Given the description of an element on the screen output the (x, y) to click on. 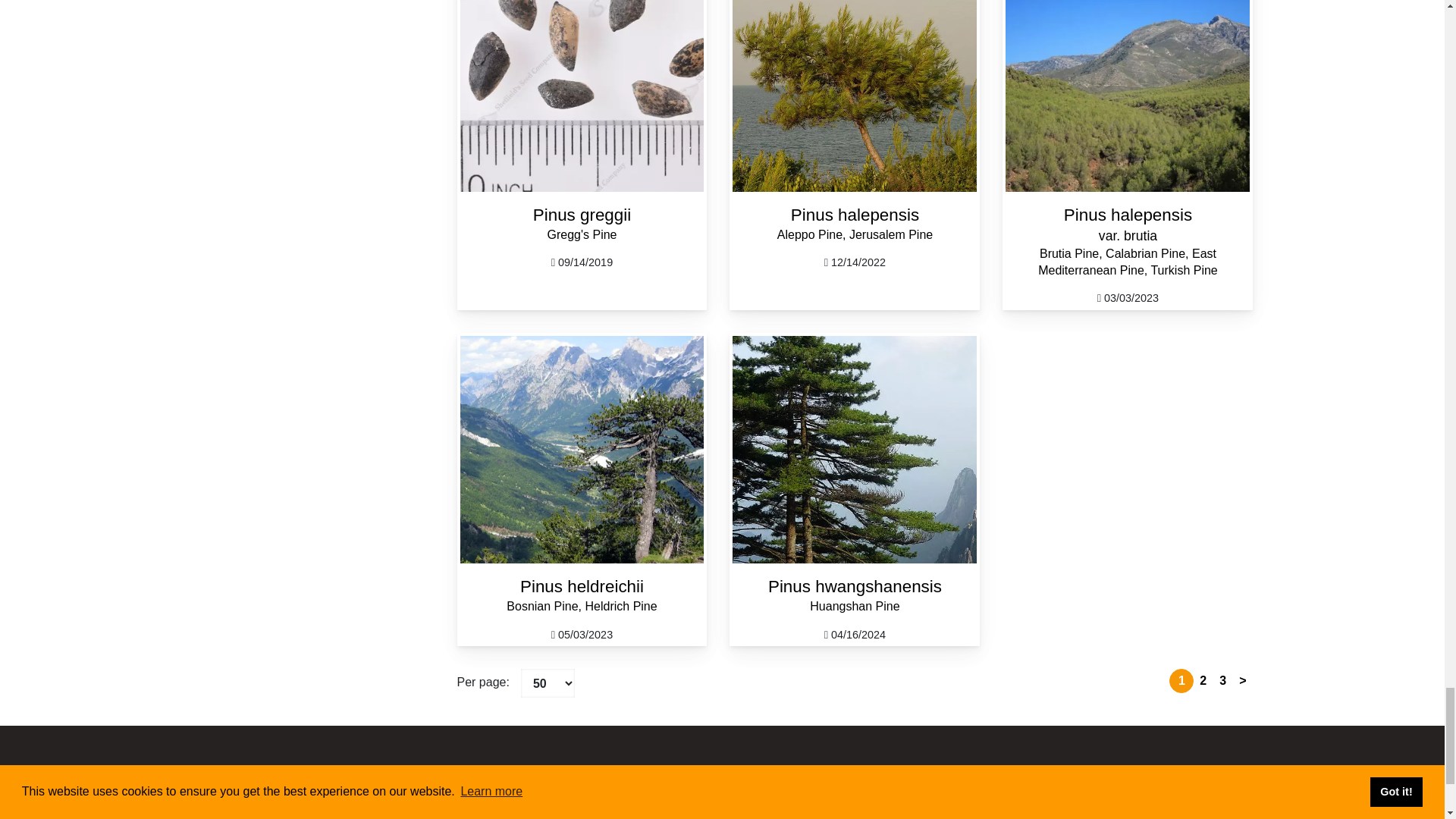
Per page (548, 683)
